Given the description of an element on the screen output the (x, y) to click on. 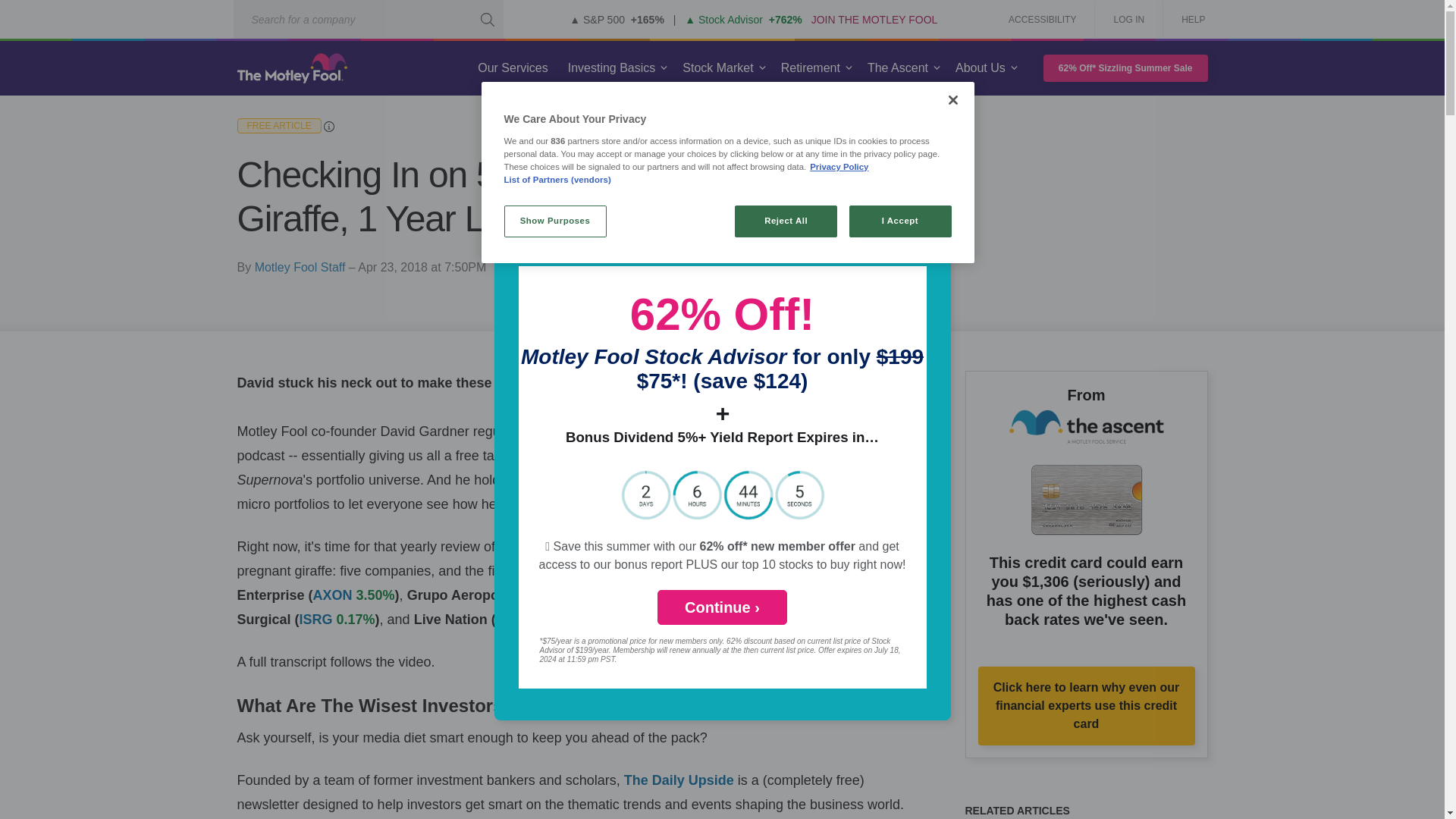
Our Services (512, 67)
HELP (1187, 19)
LOG IN (1128, 19)
ACCESSIBILITY (1042, 19)
Investing Basics (611, 67)
Stock Market (717, 67)
